Given the description of an element on the screen output the (x, y) to click on. 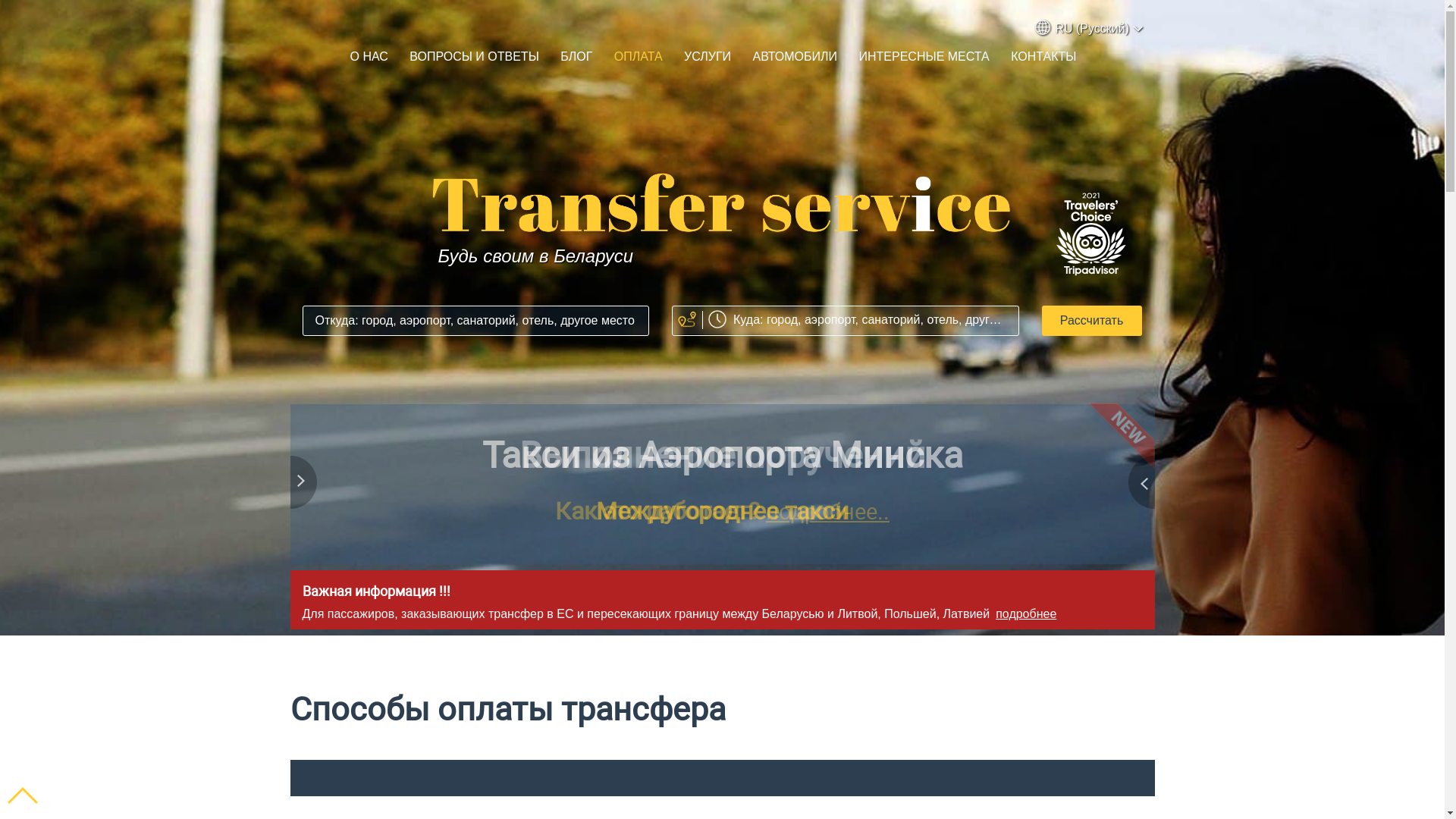
Next Element type: text (1138, 485)
Previous Element type: text (304, 485)
